Given the description of an element on the screen output the (x, y) to click on. 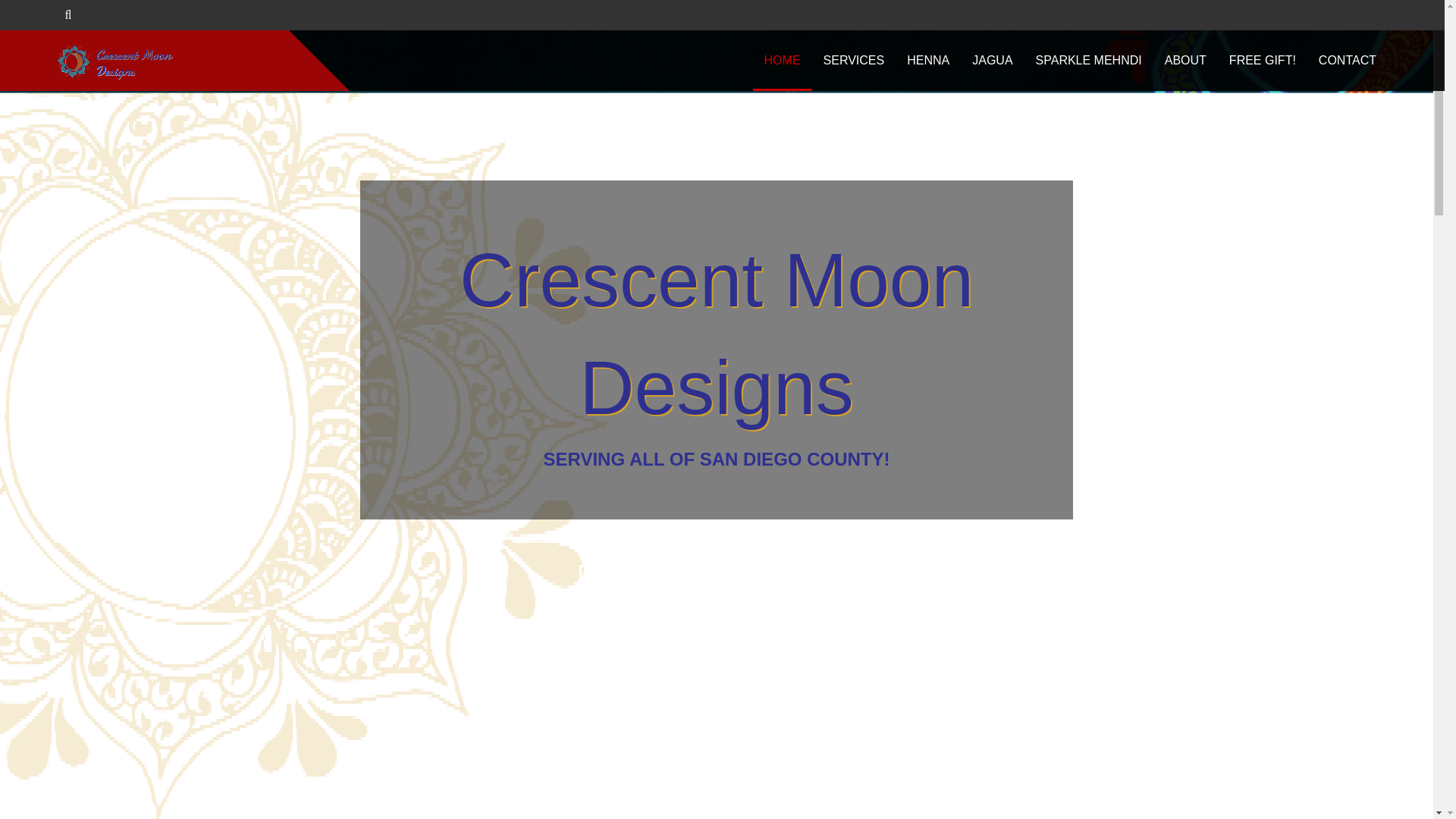
ABOUT (1185, 60)
FREE GIFT! (1262, 60)
HOME (782, 60)
SPARKLE MEHNDI (1089, 60)
HENNA (927, 60)
SERVICES (854, 60)
JAGUA (991, 60)
search (45, 15)
CONTACT (1347, 60)
